Given the description of an element on the screen output the (x, y) to click on. 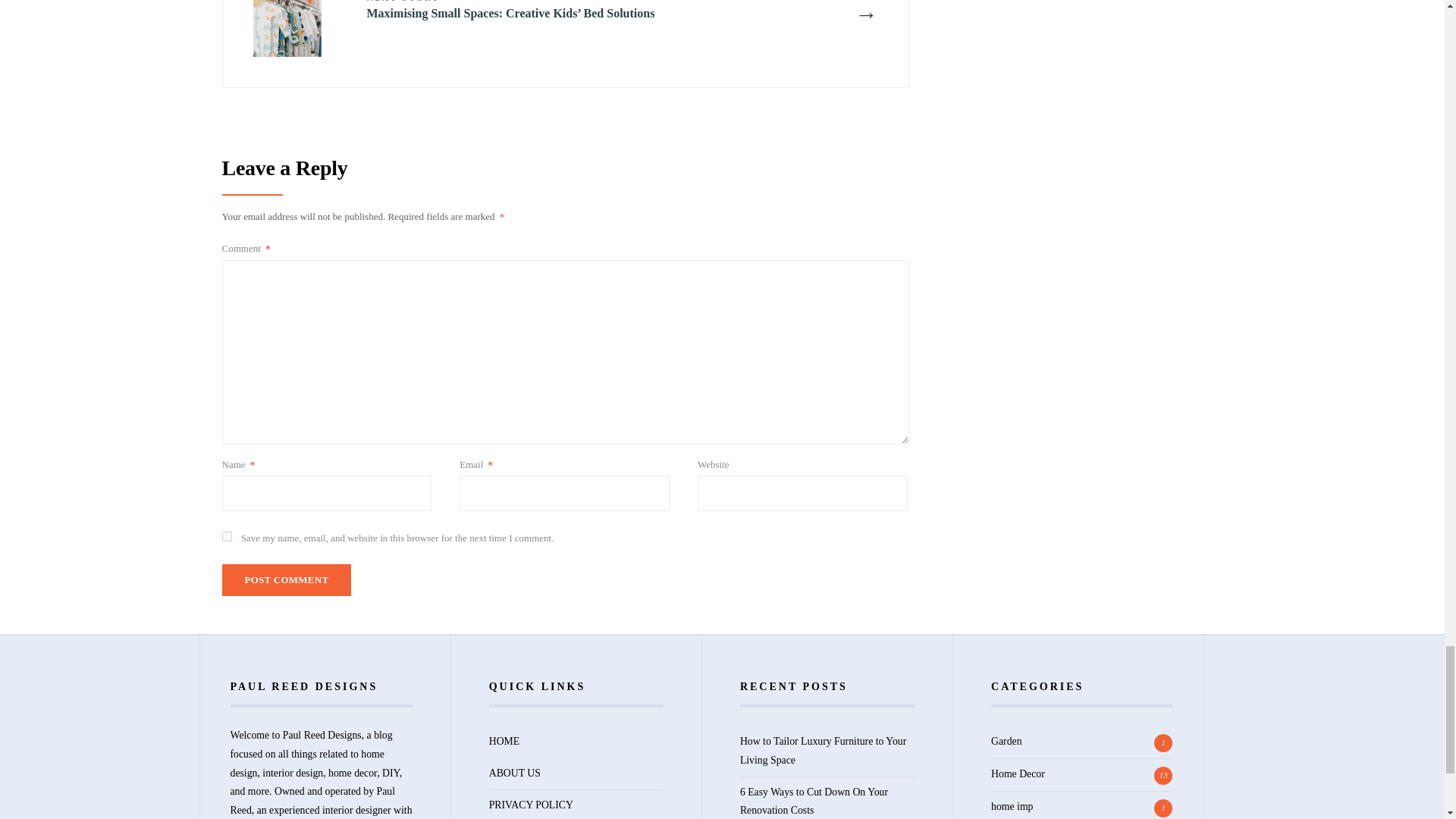
yes (226, 536)
Post Comment (285, 580)
Post Comment (285, 580)
